Given the description of an element on the screen output the (x, y) to click on. 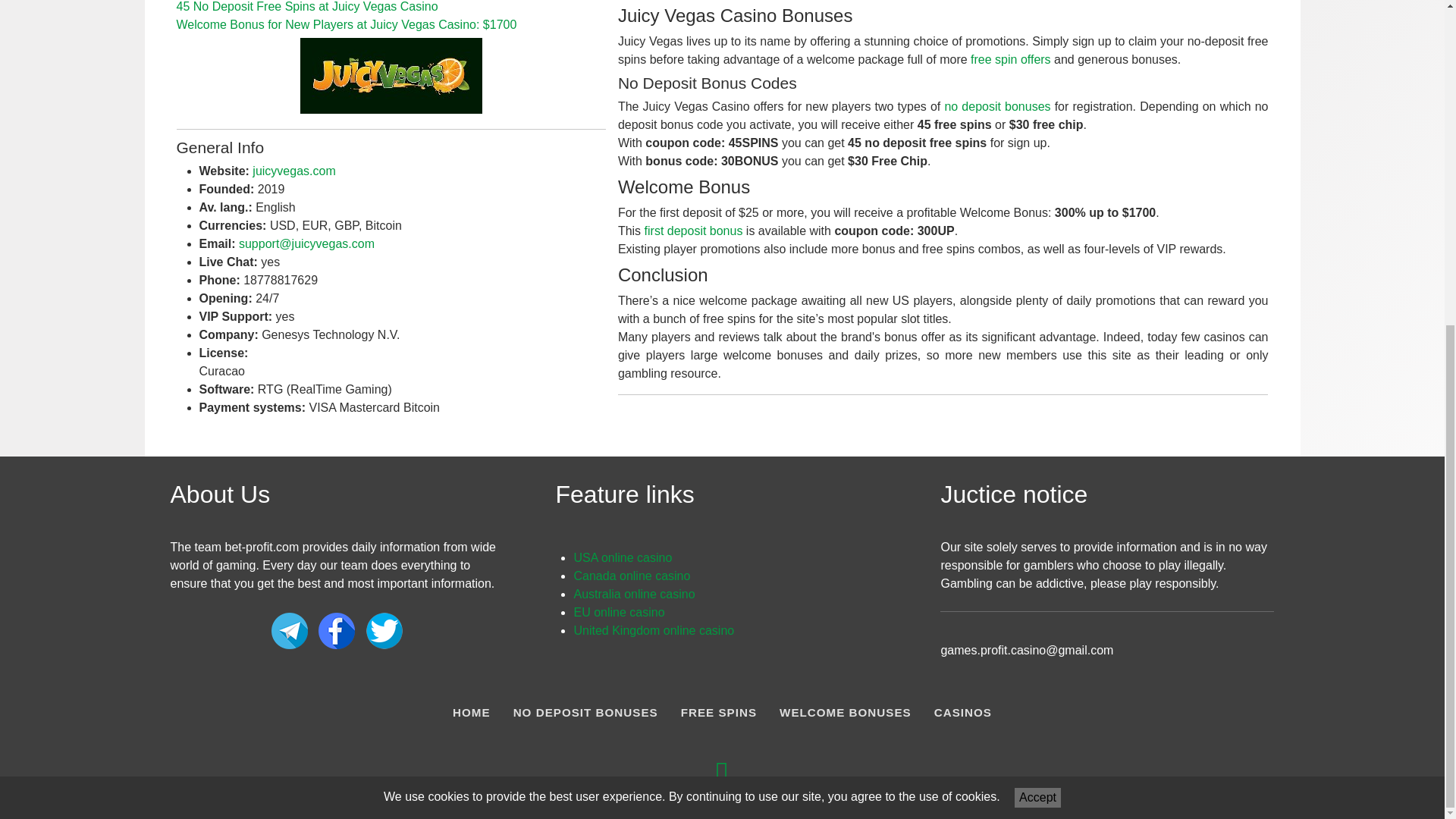
45 No Deposit Free Spins at Juicy Vegas Casino (307, 6)
juicyvegas.com (292, 170)
juicyvegas.com (292, 170)
45 No Deposit Free Spins at Juicy Vegas Casino (307, 6)
Juicy Vegas Casino Logo (390, 75)
